Given the description of an element on the screen output the (x, y) to click on. 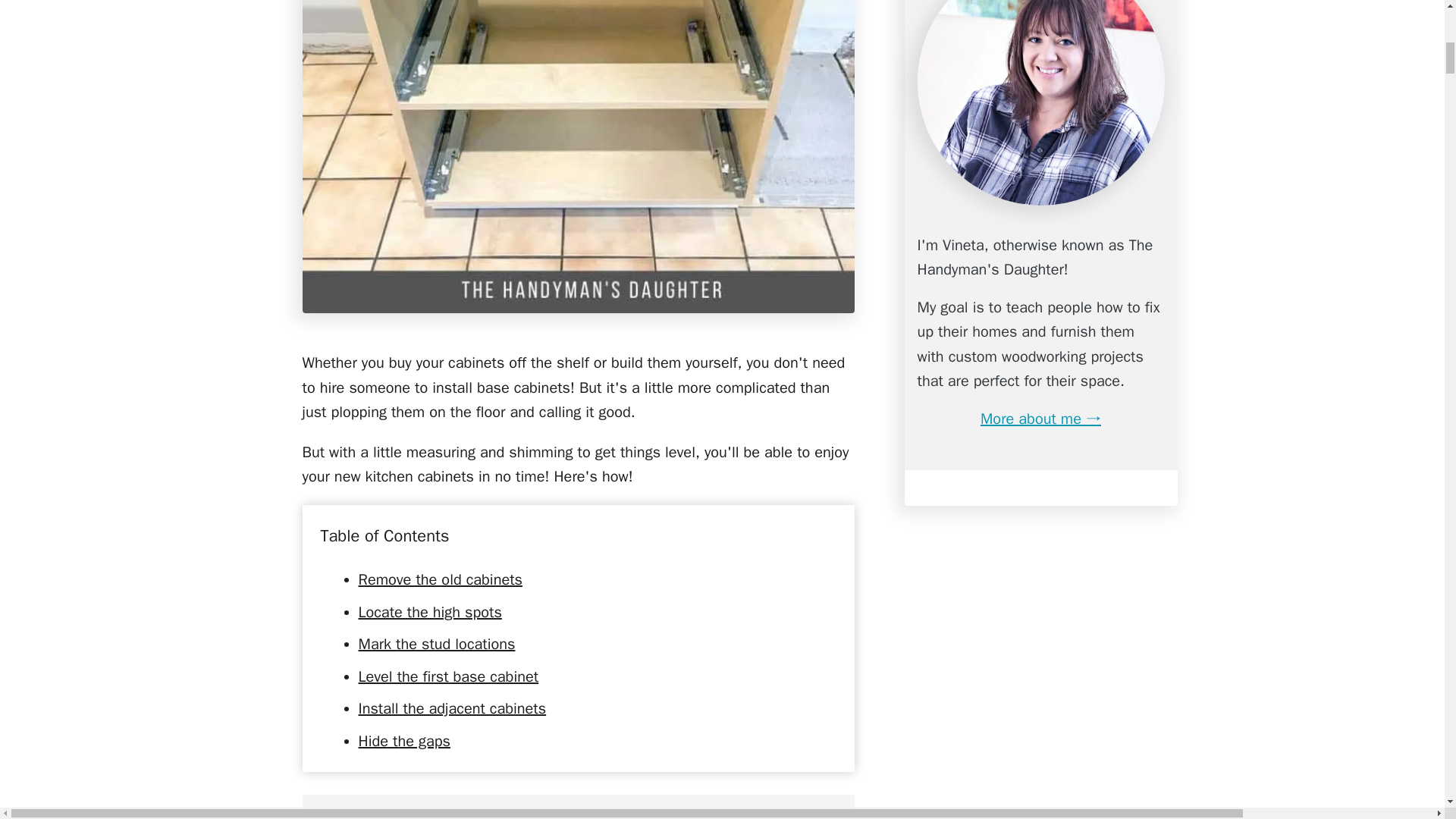
Locate the high spots (429, 611)
Mark the stud locations (436, 643)
Install the adjacent cabinets (452, 708)
Remove the old cabinets (439, 579)
Hide the gaps (403, 741)
Level the first base cabinet (448, 676)
